Given the description of an element on the screen output the (x, y) to click on. 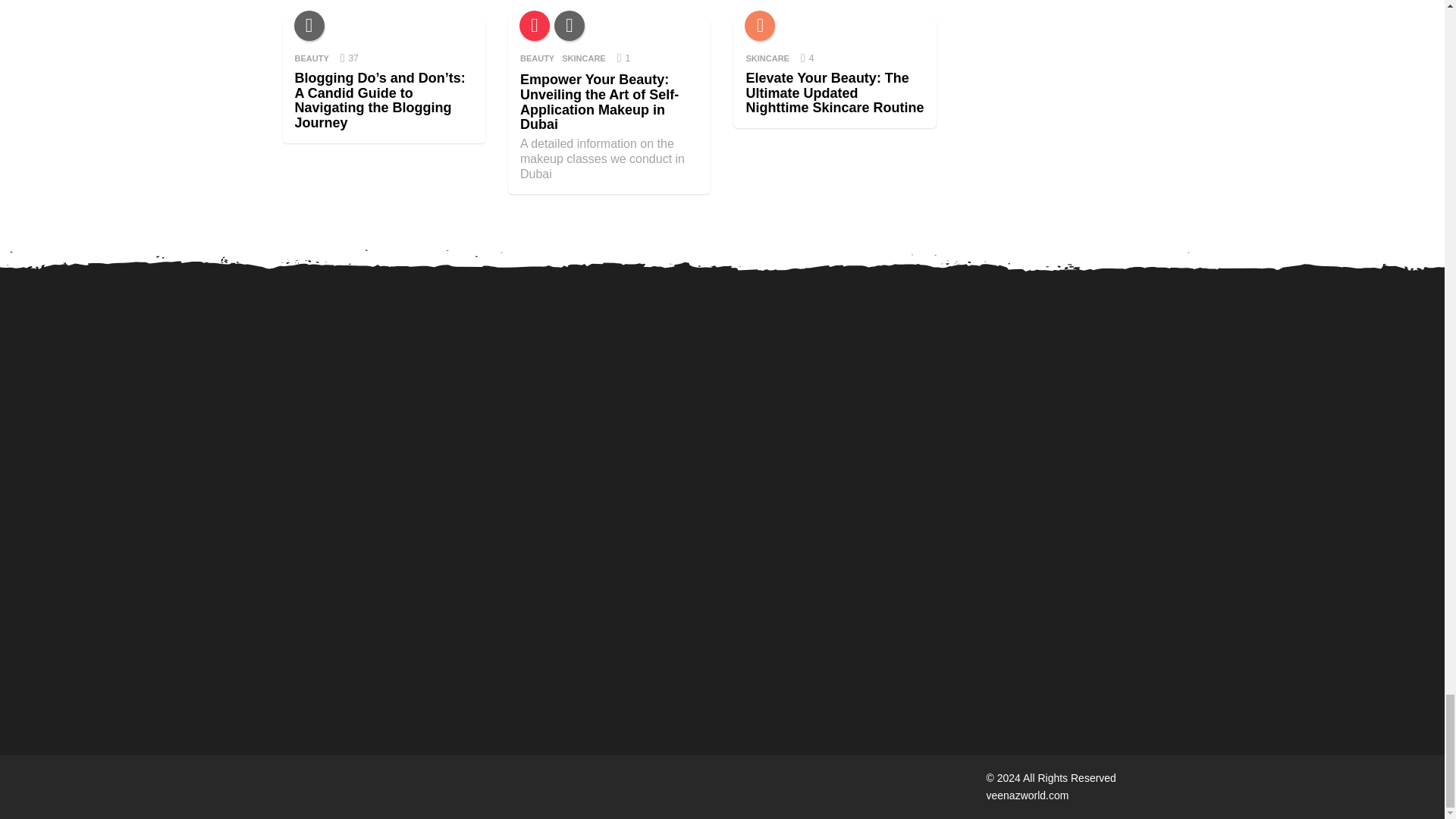
Beauty (569, 25)
Skincare (759, 25)
Beauty (309, 25)
Trending (534, 25)
